Given the description of an element on the screen output the (x, y) to click on. 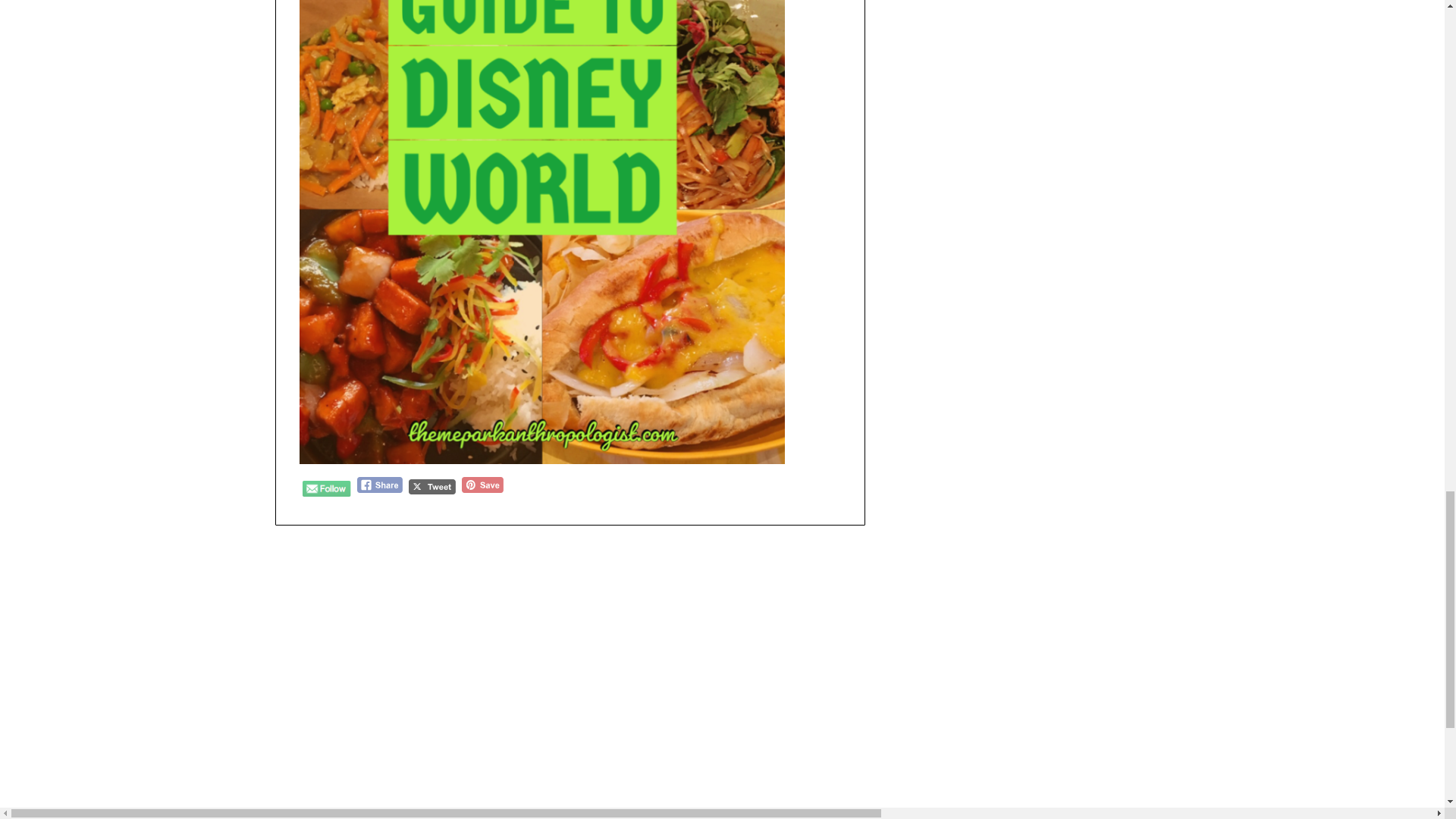
Pin Share (482, 484)
Tweet (432, 487)
Facebook Share (379, 484)
